Given the description of an element on the screen output the (x, y) to click on. 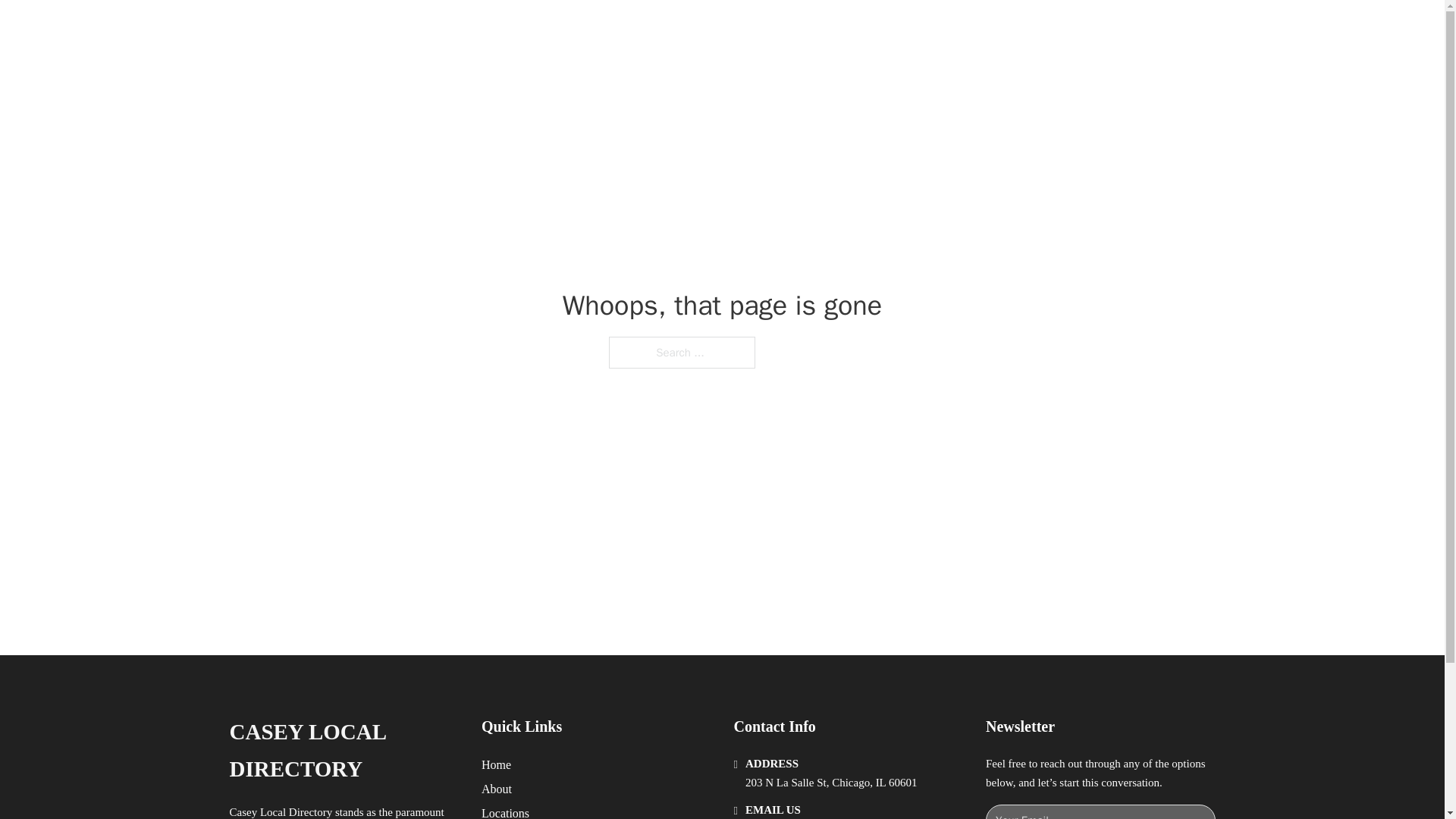
HOME (919, 29)
Locations (505, 811)
Home (496, 764)
CASEY LOCAL DIRECTORY (343, 750)
CASEY LOCAL DIRECTORY (436, 28)
About (496, 788)
LOCATIONS (990, 29)
